Given the description of an element on the screen output the (x, y) to click on. 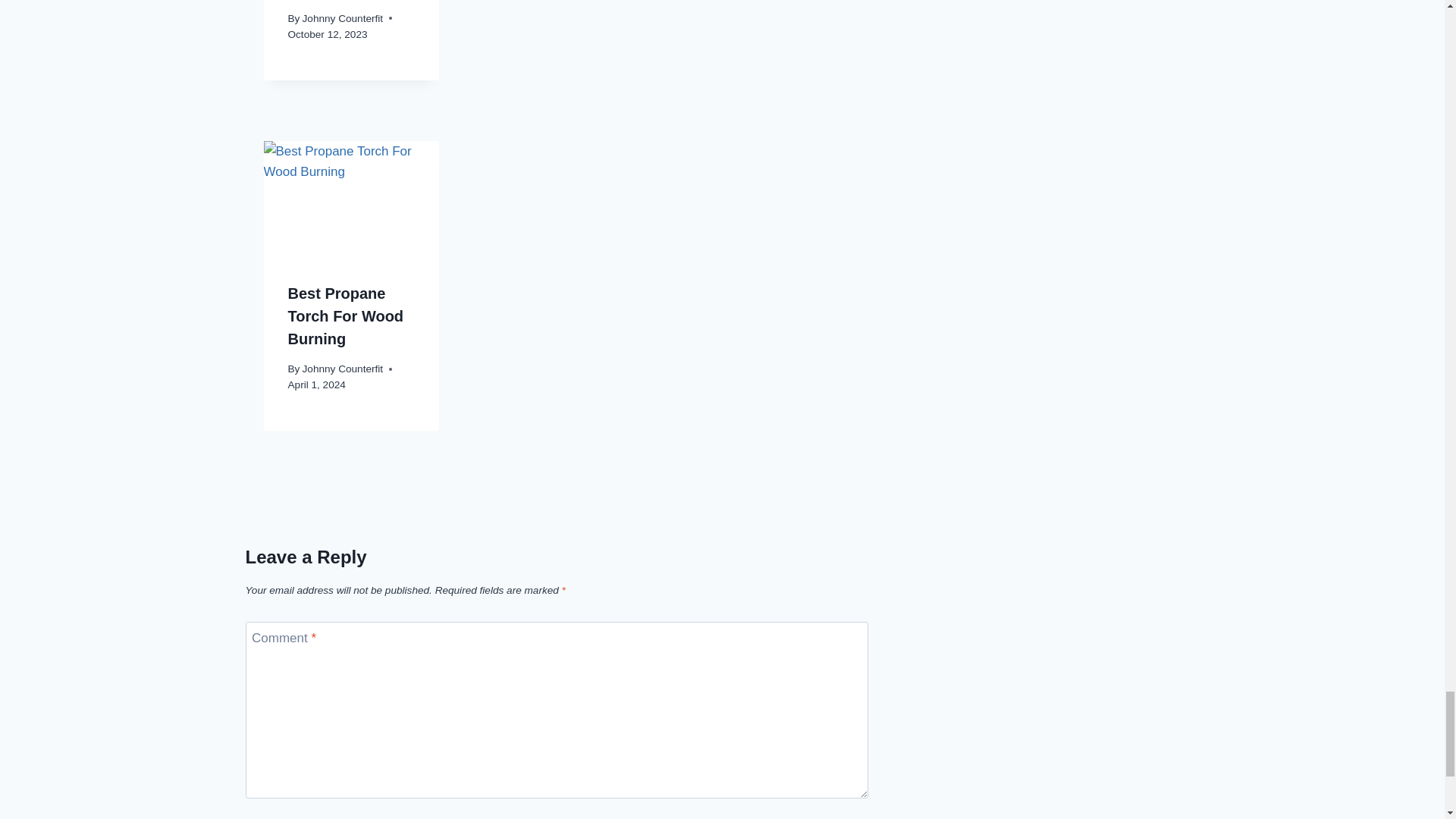
Johnny Counterfit (343, 18)
